Given the description of an element on the screen output the (x, y) to click on. 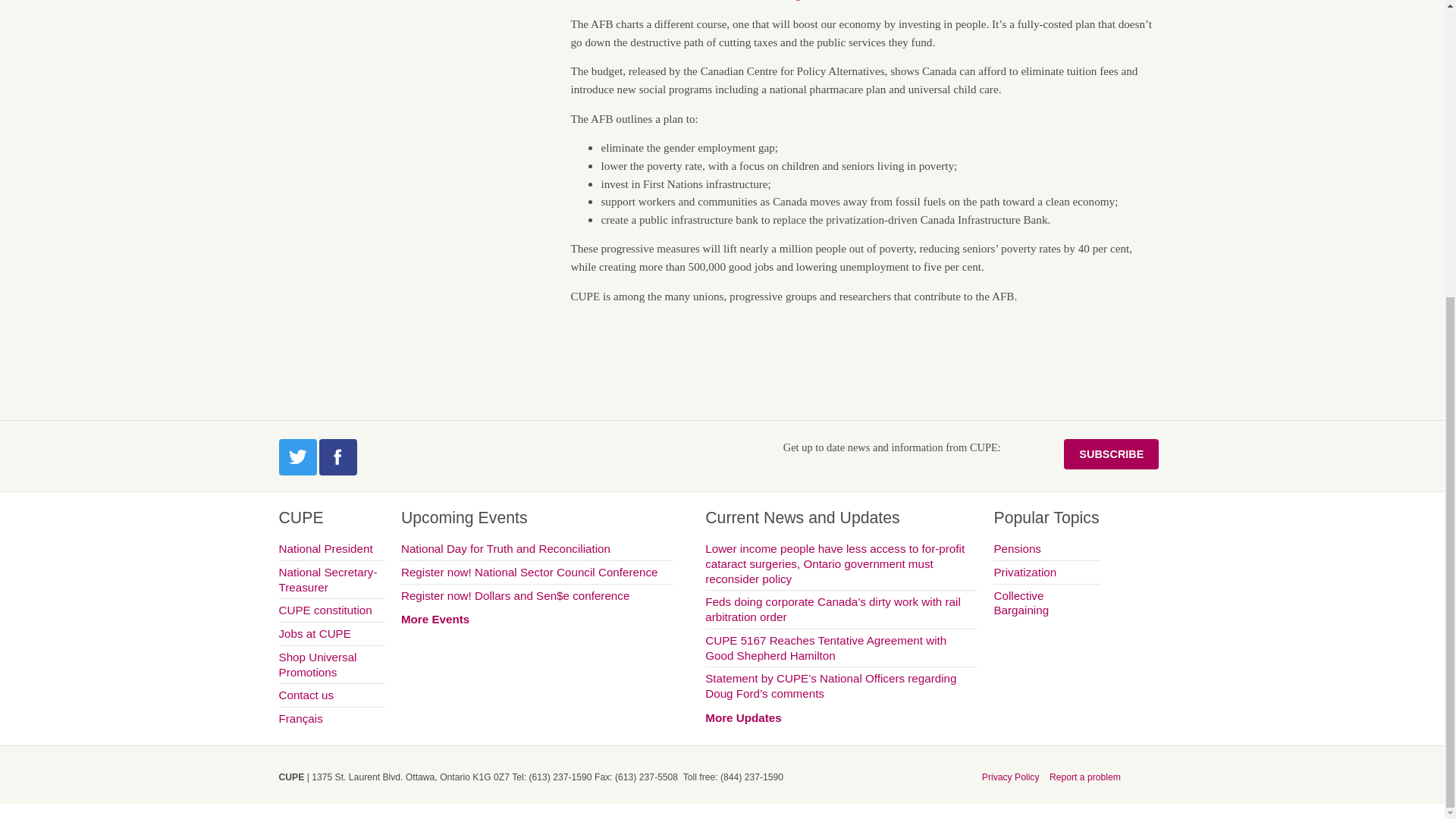
Visit our facebook page. (337, 456)
SUBSCRIBE (1111, 453)
Twitter (298, 456)
Facebook (337, 456)
Visit our twitter page. (298, 456)
